Given the description of an element on the screen output the (x, y) to click on. 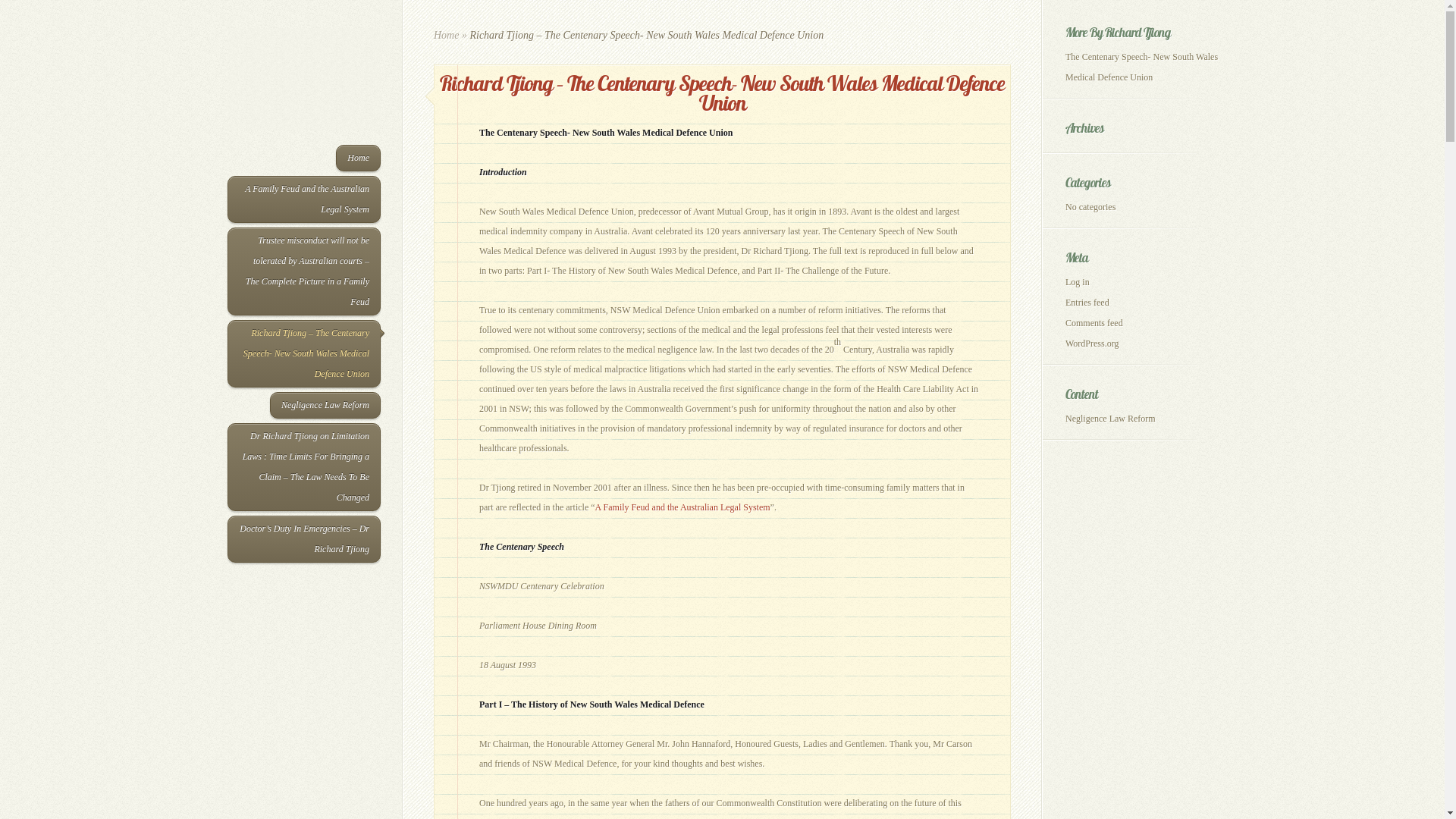
Home Element type: text (357, 157)
The Centenary Speech- New South Wales Medical Defence Union Element type: text (1141, 66)
Negligence Law Reform Element type: text (324, 405)
Comments feed Element type: text (1094, 322)
Log in Element type: text (1077, 281)
Entries feed Element type: text (1087, 302)
A Family Feud and the Australian Legal System Element type: text (303, 198)
Home Element type: text (445, 34)
A Family Feud and the Australian Legal System Element type: text (682, 507)
Negligence Law Reform Element type: text (1110, 418)
WordPress.org Element type: text (1091, 343)
